Given the description of an element on the screen output the (x, y) to click on. 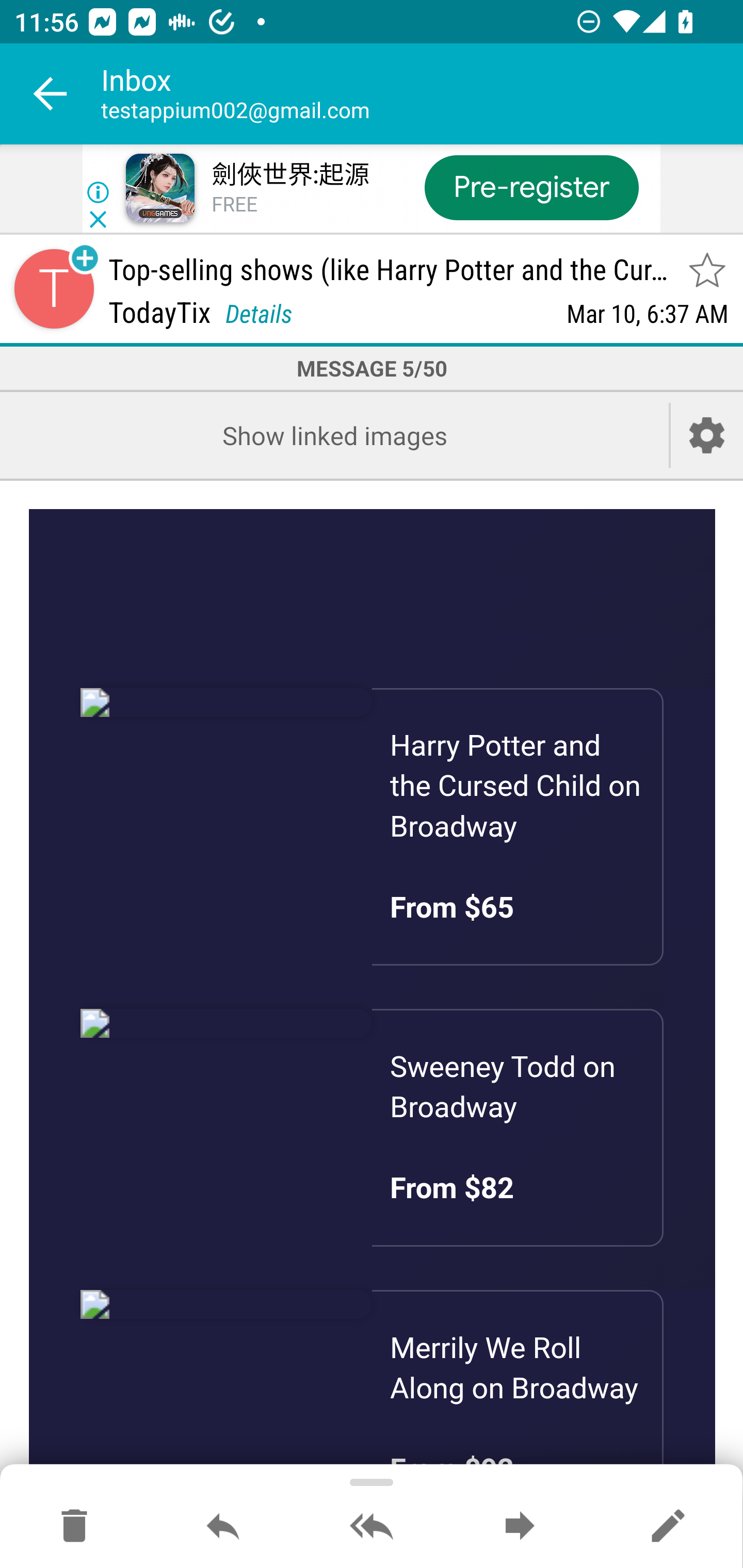
Navigate up (50, 93)
Inbox testappium002@gmail.com (422, 93)
Pre-register (530, 187)
劍俠世界:起源 (289, 175)
Sender contact button (53, 289)
Show linked images (334, 435)
Account setup (706, 435)
data: (226, 702)
data: (226, 1022)
data: (226, 1303)
Move to Deleted (74, 1527)
Reply (222, 1527)
Reply all (371, 1527)
Forward (519, 1527)
Reply as new (667, 1527)
